Given the description of an element on the screen output the (x, y) to click on. 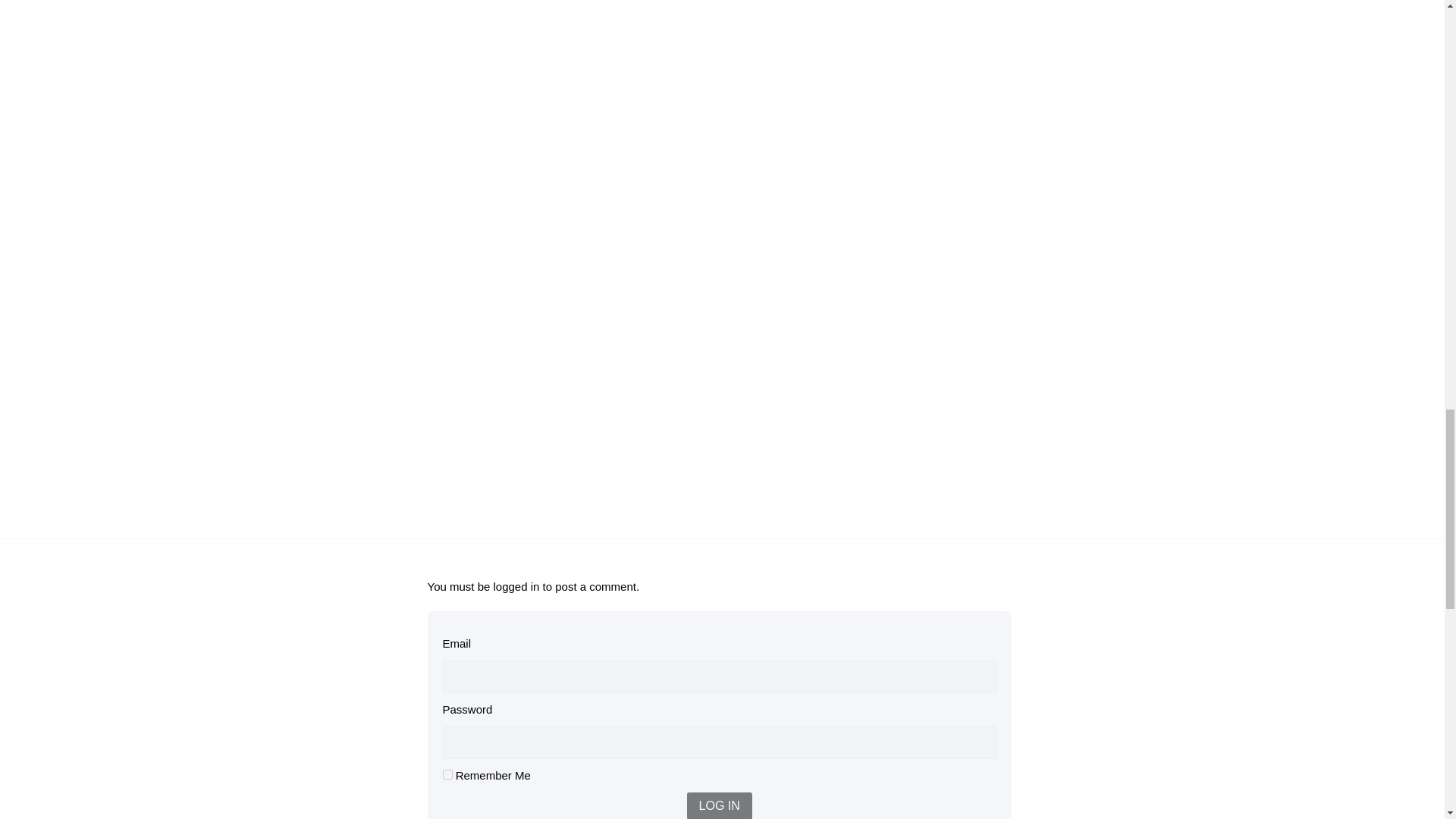
forever (447, 774)
Log In (719, 805)
